Given the description of an element on the screen output the (x, y) to click on. 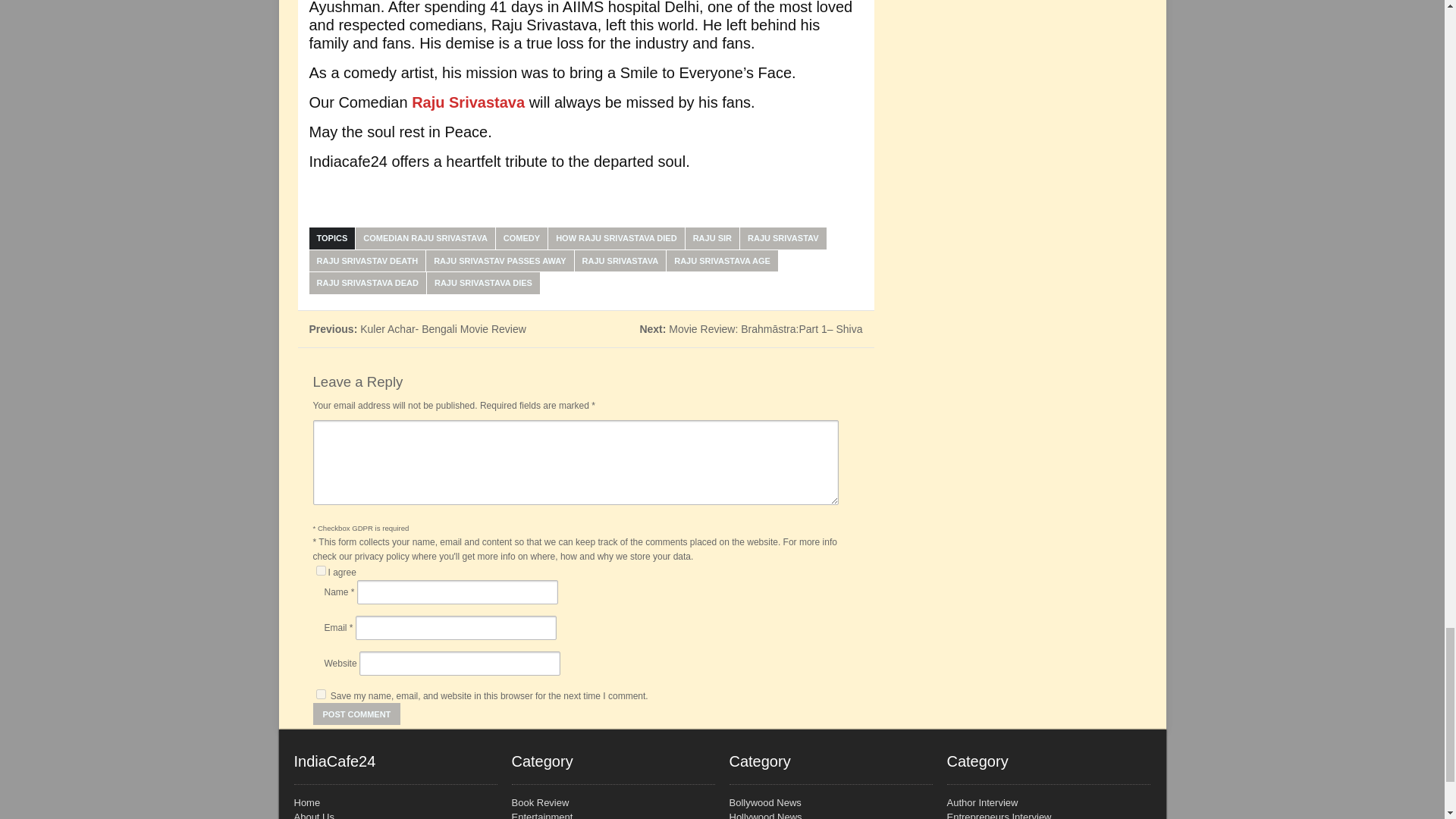
Post Comment (356, 713)
Raju Srivastava (468, 102)
yes (319, 694)
on (319, 570)
